Given the description of an element on the screen output the (x, y) to click on. 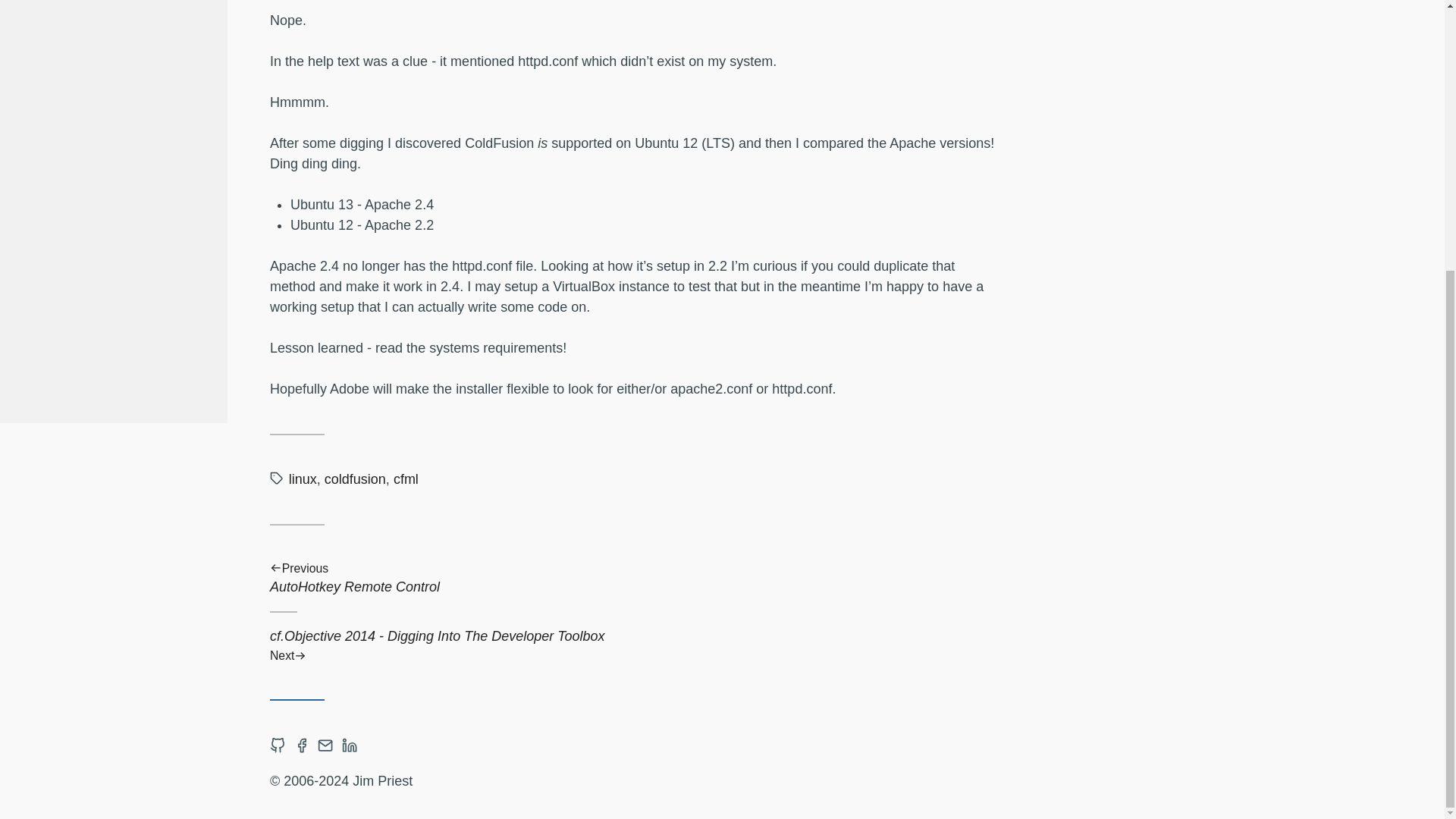
Open Facebook account in new tab (301, 745)
Open Github account in new tab (277, 745)
Contact via Email (325, 745)
Open Linkedin account in new tab (348, 745)
cfml (406, 478)
coldfusion (633, 578)
linux (354, 478)
